Given the description of an element on the screen output the (x, y) to click on. 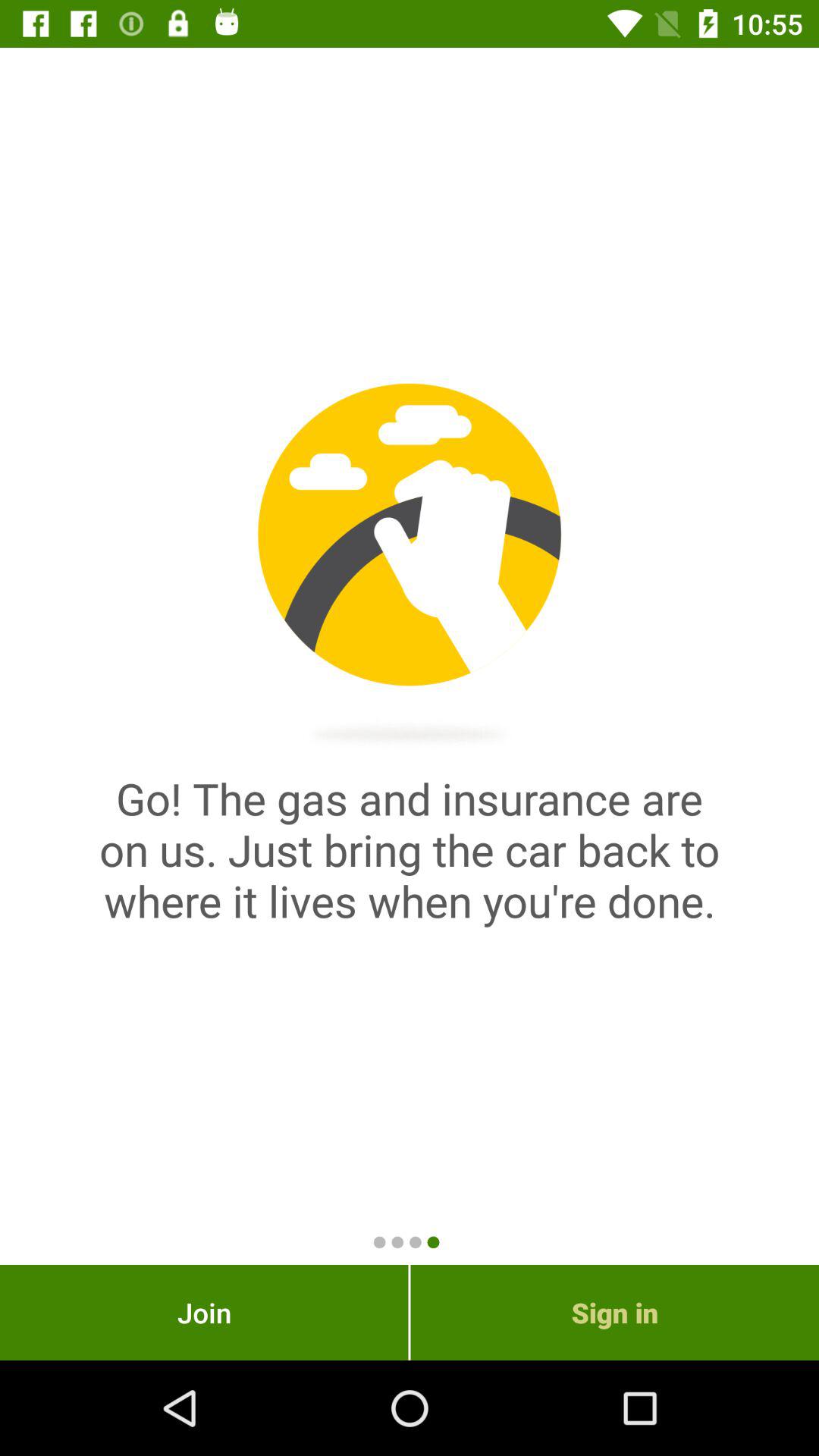
turn off icon next to the join (614, 1312)
